Given the description of an element on the screen output the (x, y) to click on. 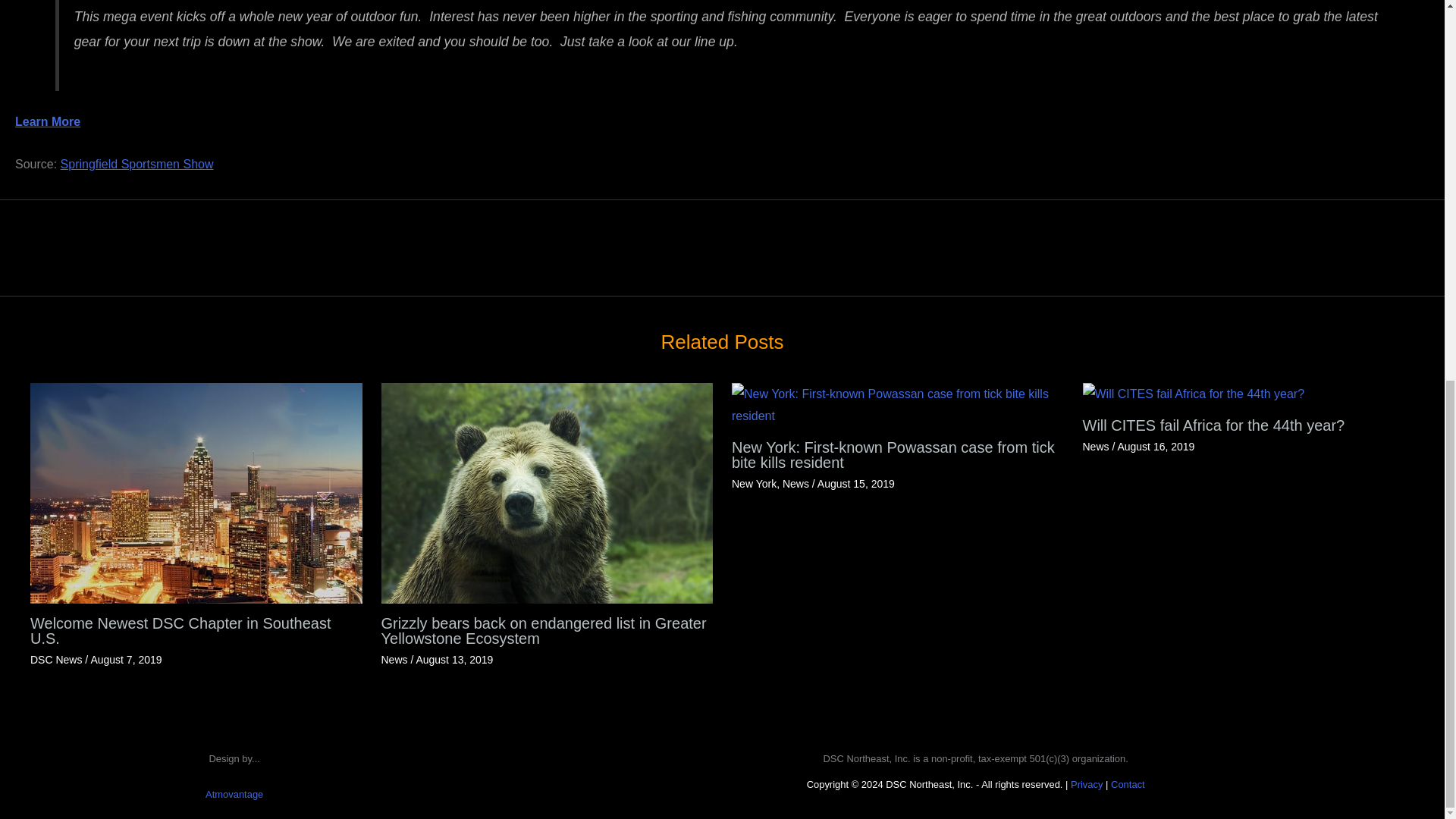
Save the Date: DSC Northeast Convention 2024 (1408, 235)
Will CITES fail Africa for the 44th year? (1193, 394)
Welcome Newest DSC Chapter in Southeast U.S. (196, 493)
